Given the description of an element on the screen output the (x, y) to click on. 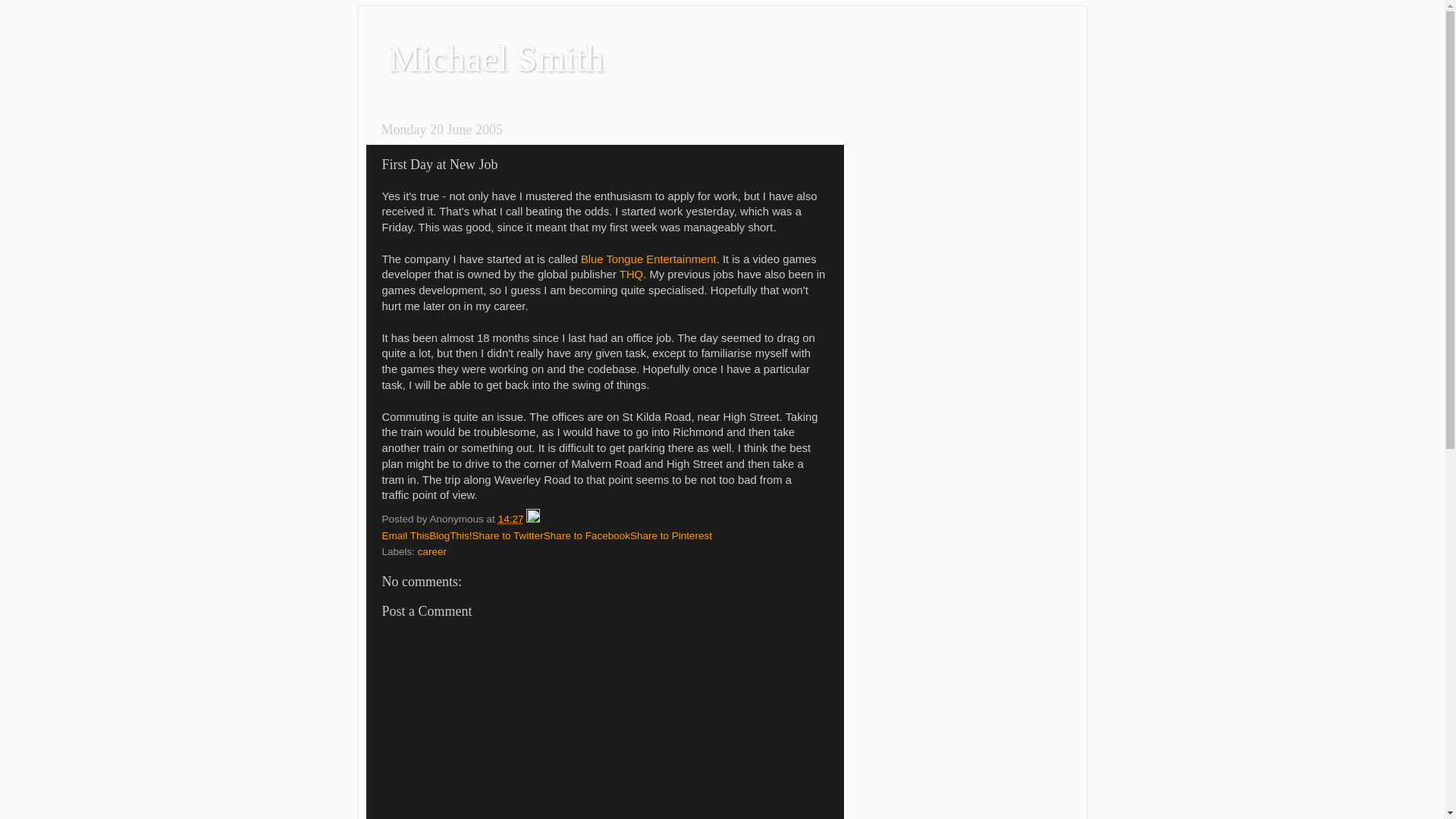
Email This Element type: text (405, 535)
career Element type: text (431, 551)
Michael Smith Element type: text (495, 58)
14:27 Element type: text (511, 518)
Blue Tongue Entertainment Element type: text (648, 259)
BlogThis! Element type: text (450, 535)
Edit Post Element type: hover (532, 518)
THQ Element type: text (631, 274)
Share to Twitter Element type: text (507, 535)
Share to Facebook Element type: text (586, 535)
Share to Pinterest Element type: text (671, 535)
